Given the description of an element on the screen output the (x, y) to click on. 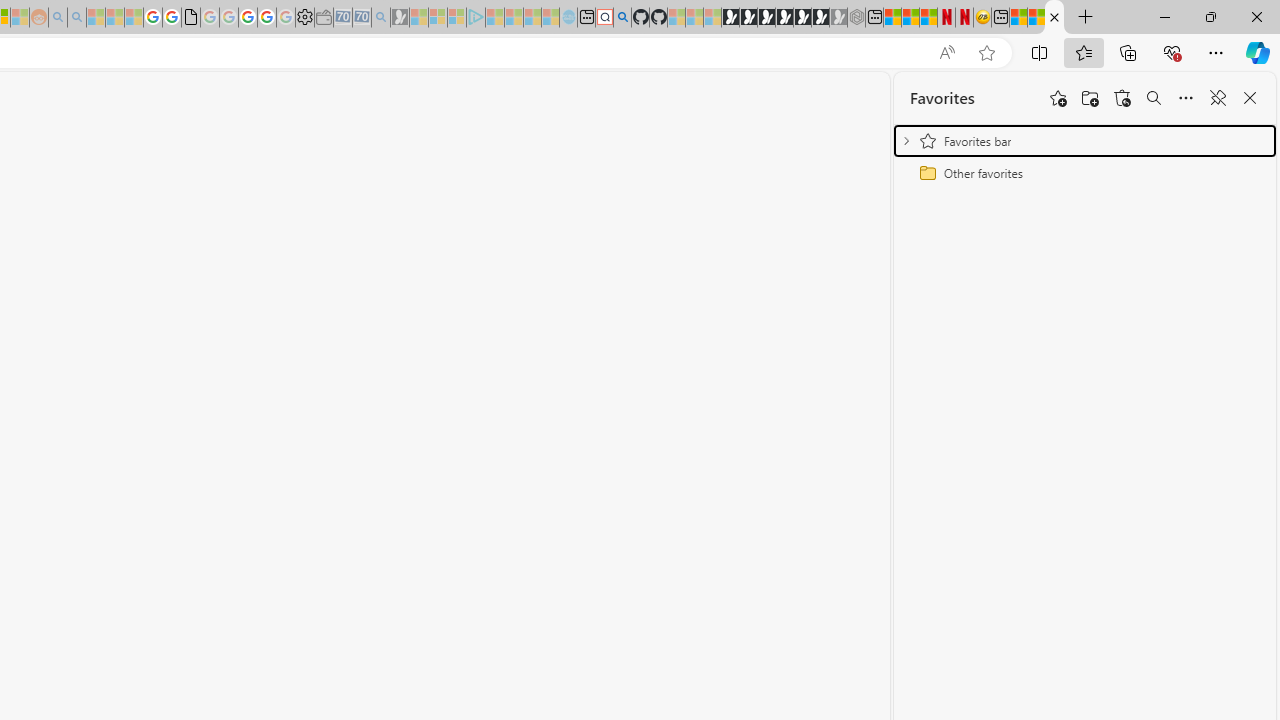
Unpin favorites (1217, 98)
